Given the description of an element on the screen output the (x, y) to click on. 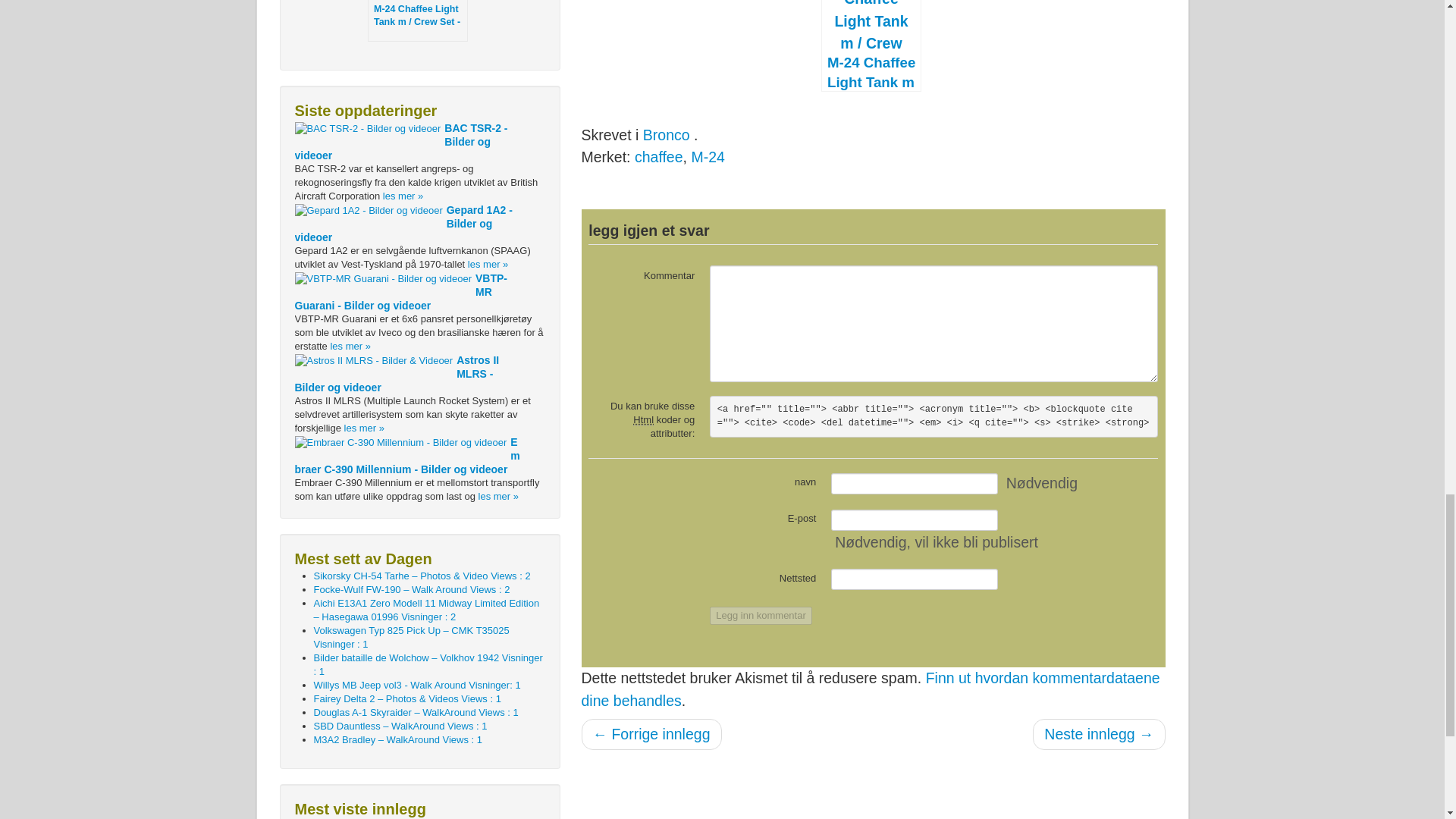
Legg inn kommentar (761, 615)
